Given the description of an element on the screen output the (x, y) to click on. 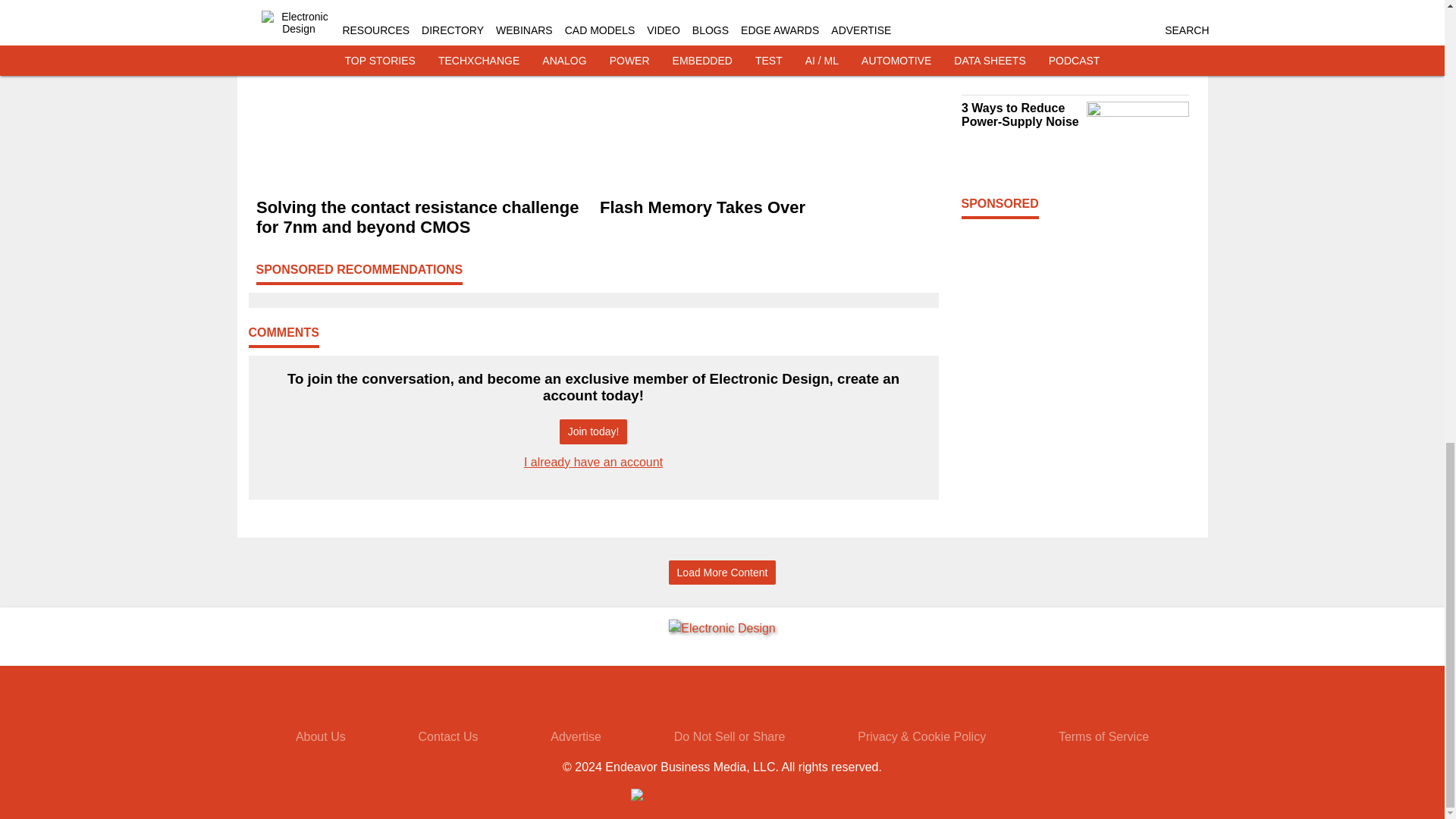
Flash Memory Takes Over (764, 207)
I already have an account (593, 461)
Join today! (593, 431)
